Given the description of an element on the screen output the (x, y) to click on. 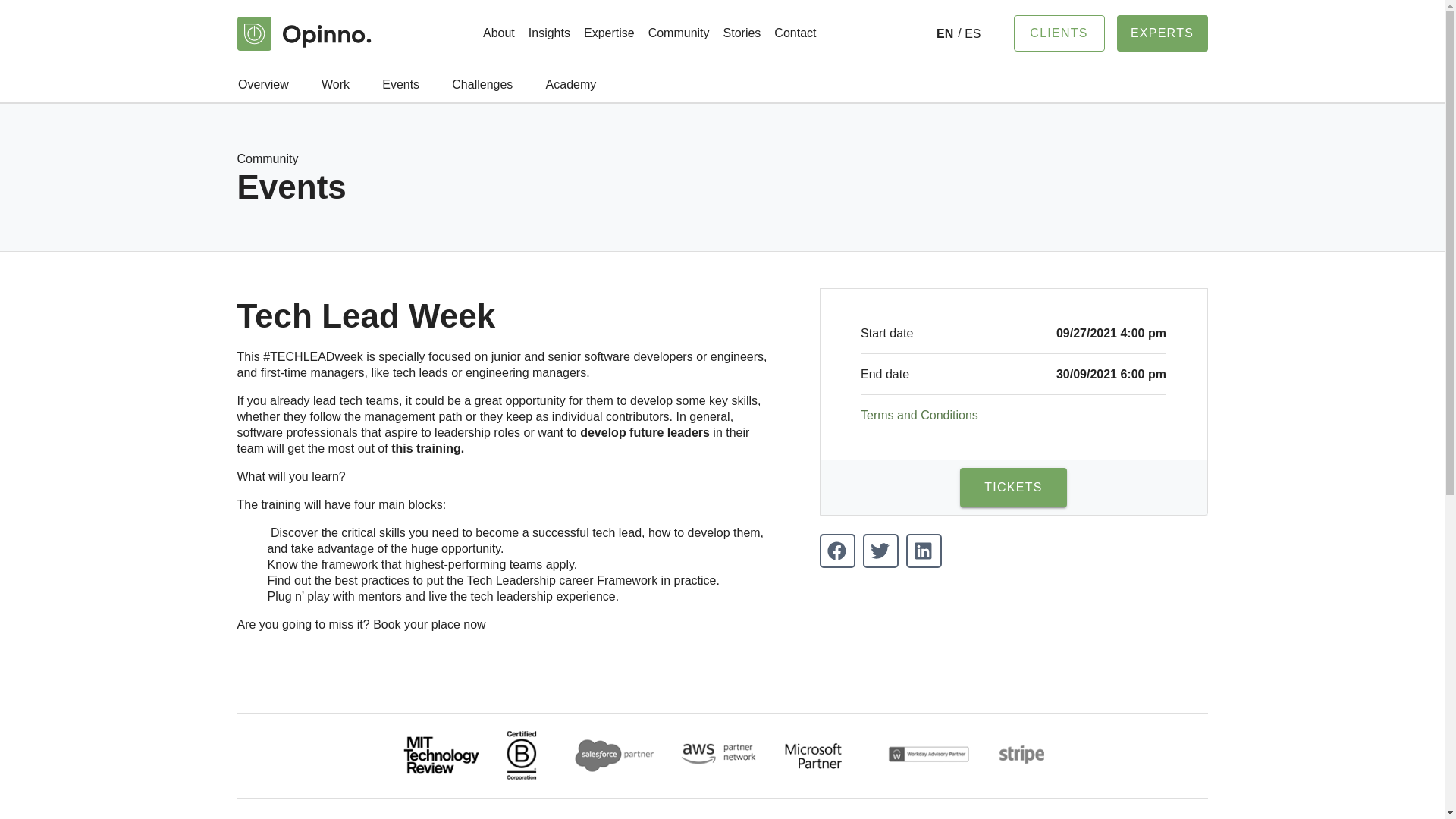
ES (968, 33)
Insights (548, 32)
Contact (794, 32)
Community (679, 32)
Stories (742, 32)
Challenges (482, 84)
About (498, 32)
Expertise (609, 32)
EXPERTS (1161, 33)
EN (944, 33)
Overview (262, 84)
Academy (570, 84)
Events (400, 84)
CLIENTS (1058, 33)
